Given the description of an element on the screen output the (x, y) to click on. 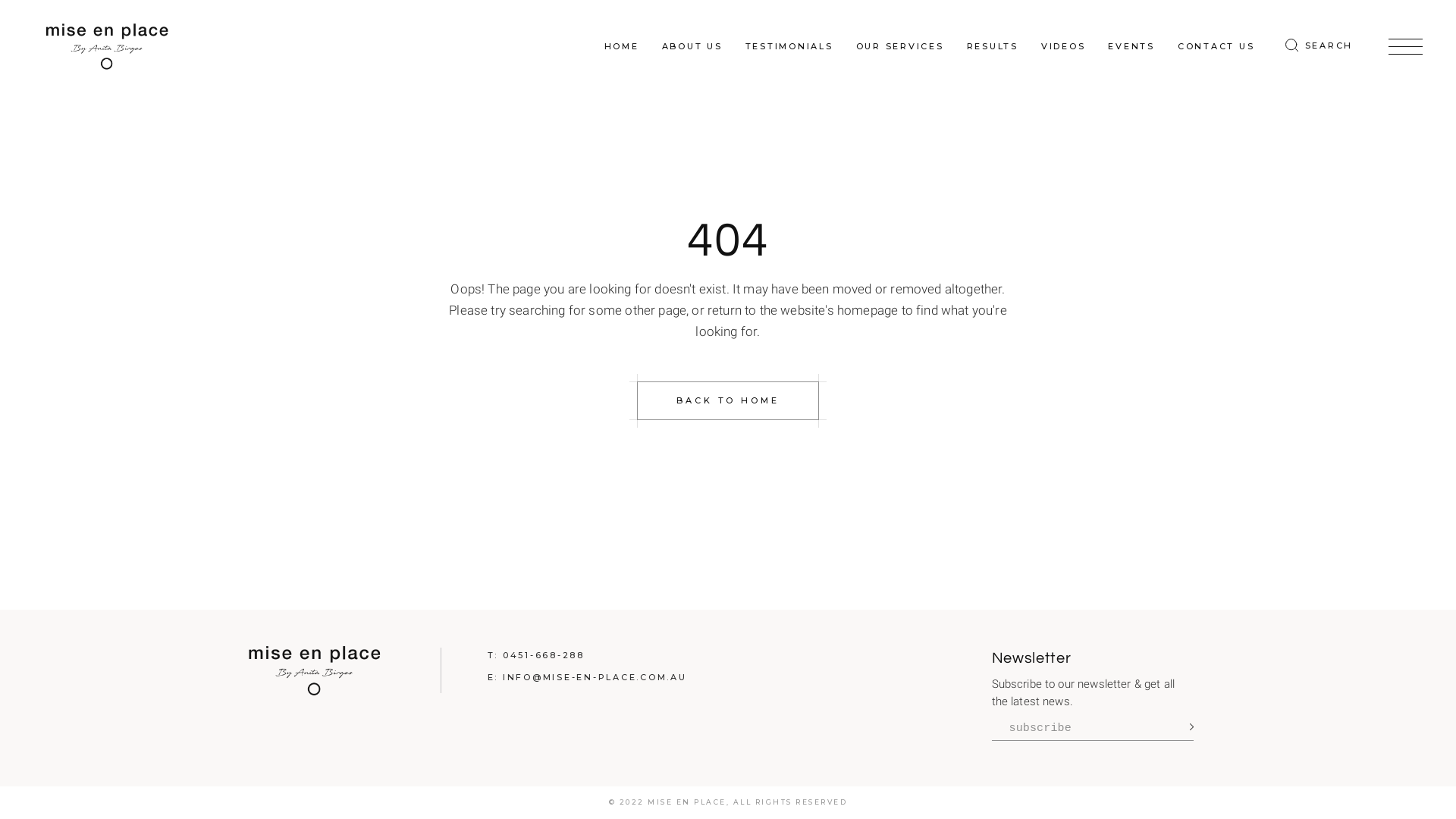
OUR SERVICES Element type: text (900, 46)
0451-668-288 Element type: text (543, 654)
INFO@MISE-EN-PLACE.COM.AU Element type: text (594, 676)
VIDEOS Element type: text (1063, 46)
EVENTS Element type: text (1130, 46)
HOME Element type: text (621, 46)
SUBSCRIBE Element type: text (1186, 727)
CONTACT US Element type: text (1216, 46)
ABOUT US Element type: text (692, 46)
RESULTS Element type: text (992, 46)
SEARCH Element type: text (1318, 45)
TESTIMONIALS Element type: text (789, 46)
BACK TO HOME Element type: text (727, 400)
